Given the description of an element on the screen output the (x, y) to click on. 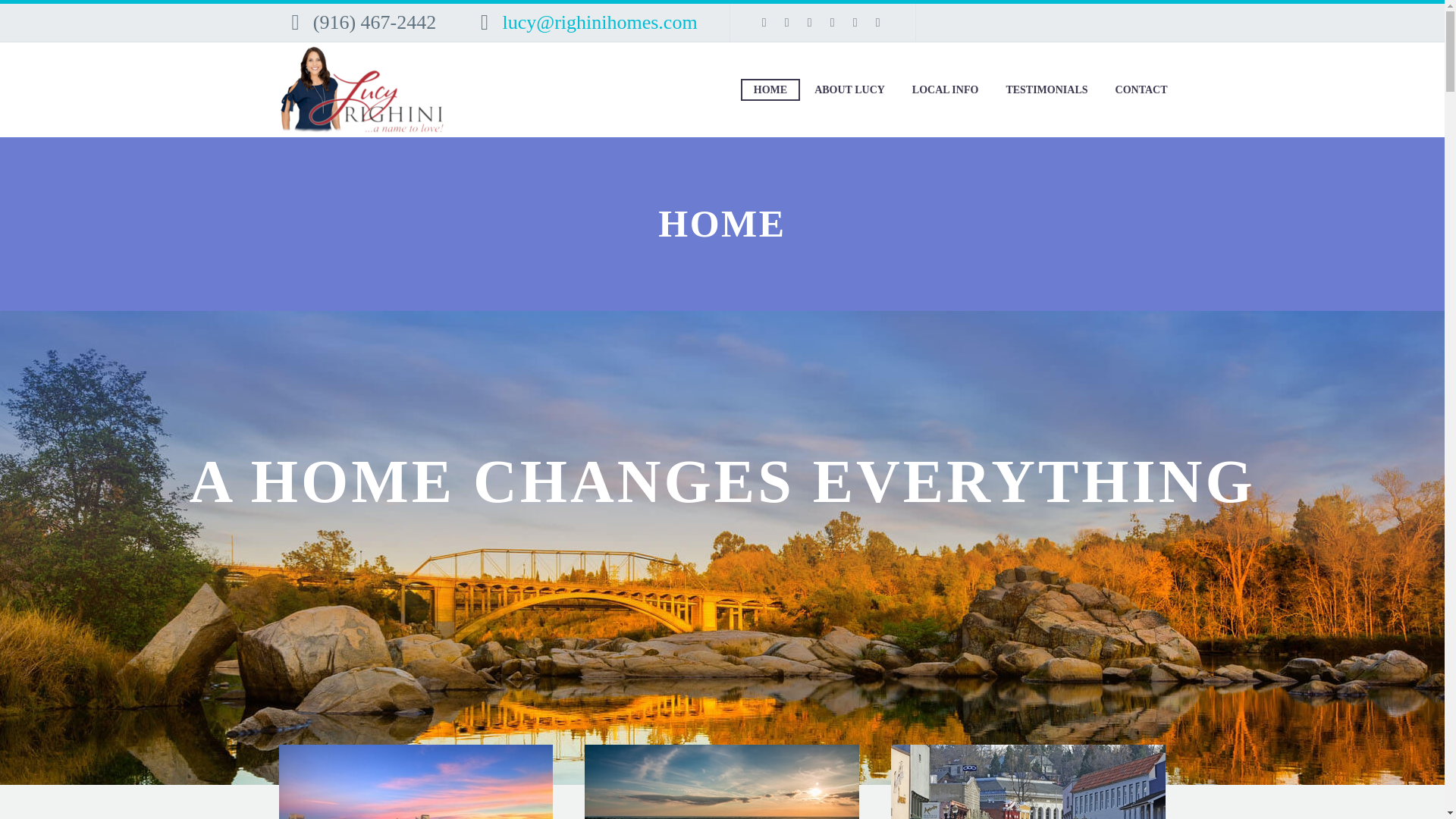
TESTIMONIALS (1046, 89)
Share (877, 22)
LinkedIn (786, 22)
YouTube (855, 22)
HOME (770, 89)
Facebook (764, 22)
Instagram (809, 22)
ABOUT LUCY (849, 89)
CONTACT (1141, 89)
Pinterest (832, 22)
LOCAL INFO (945, 89)
